Given the description of an element on the screen output the (x, y) to click on. 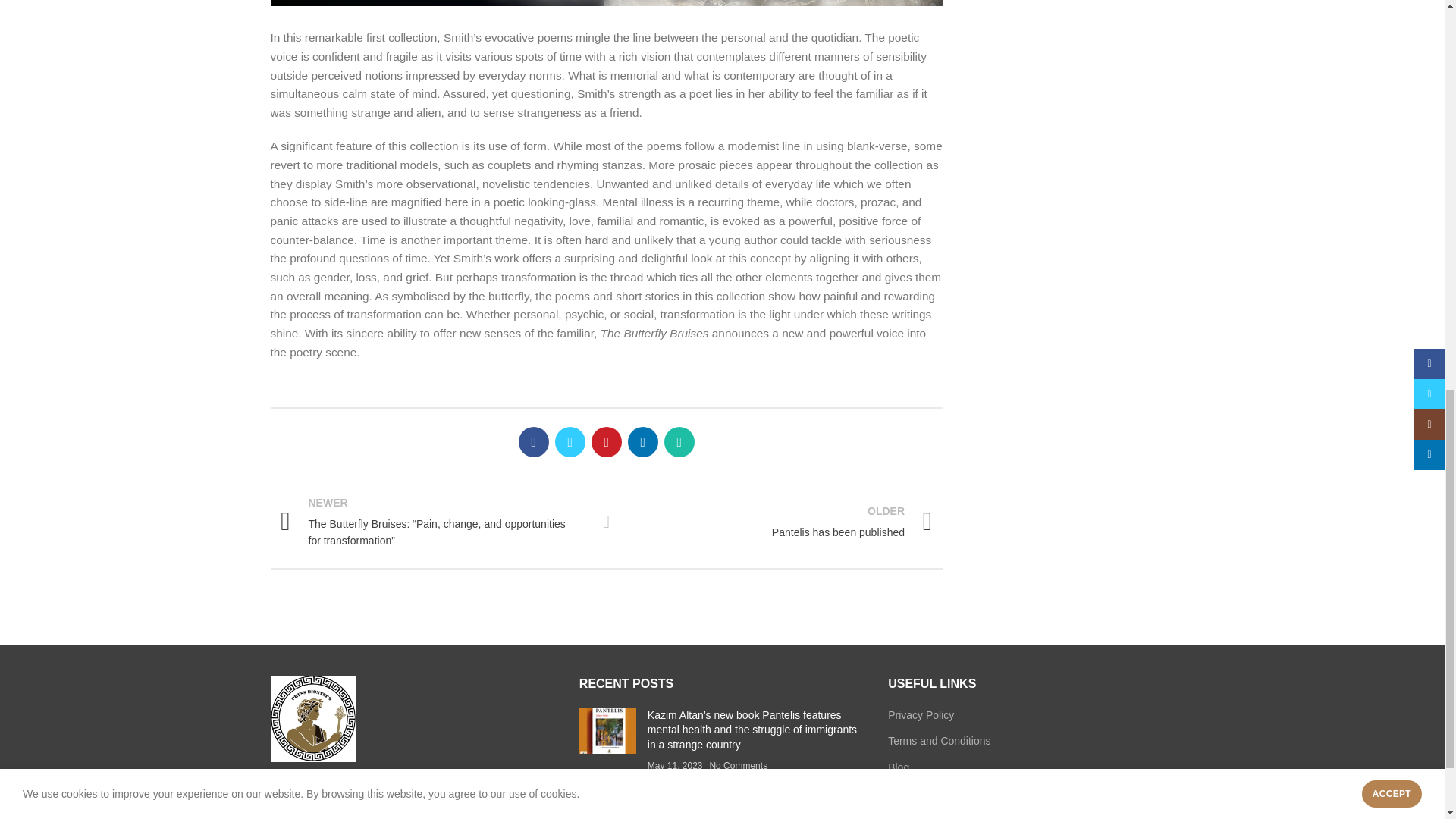
WhatsApp (678, 441)
Pinterest (606, 441)
Facebook (533, 441)
Back to list (606, 521)
Twitter (569, 441)
linkedin (779, 521)
